Given the description of an element on the screen output the (x, y) to click on. 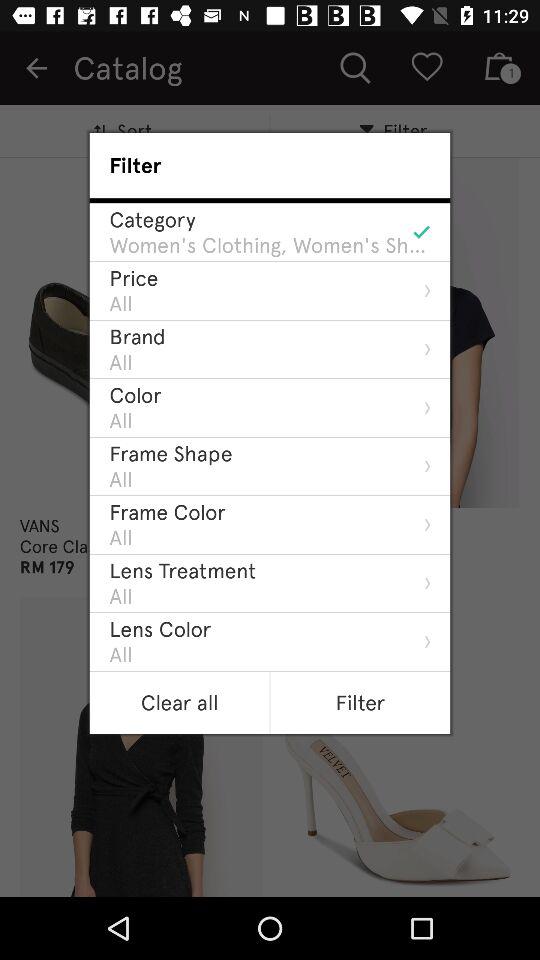
tap women s clothing (269, 245)
